Given the description of an element on the screen output the (x, y) to click on. 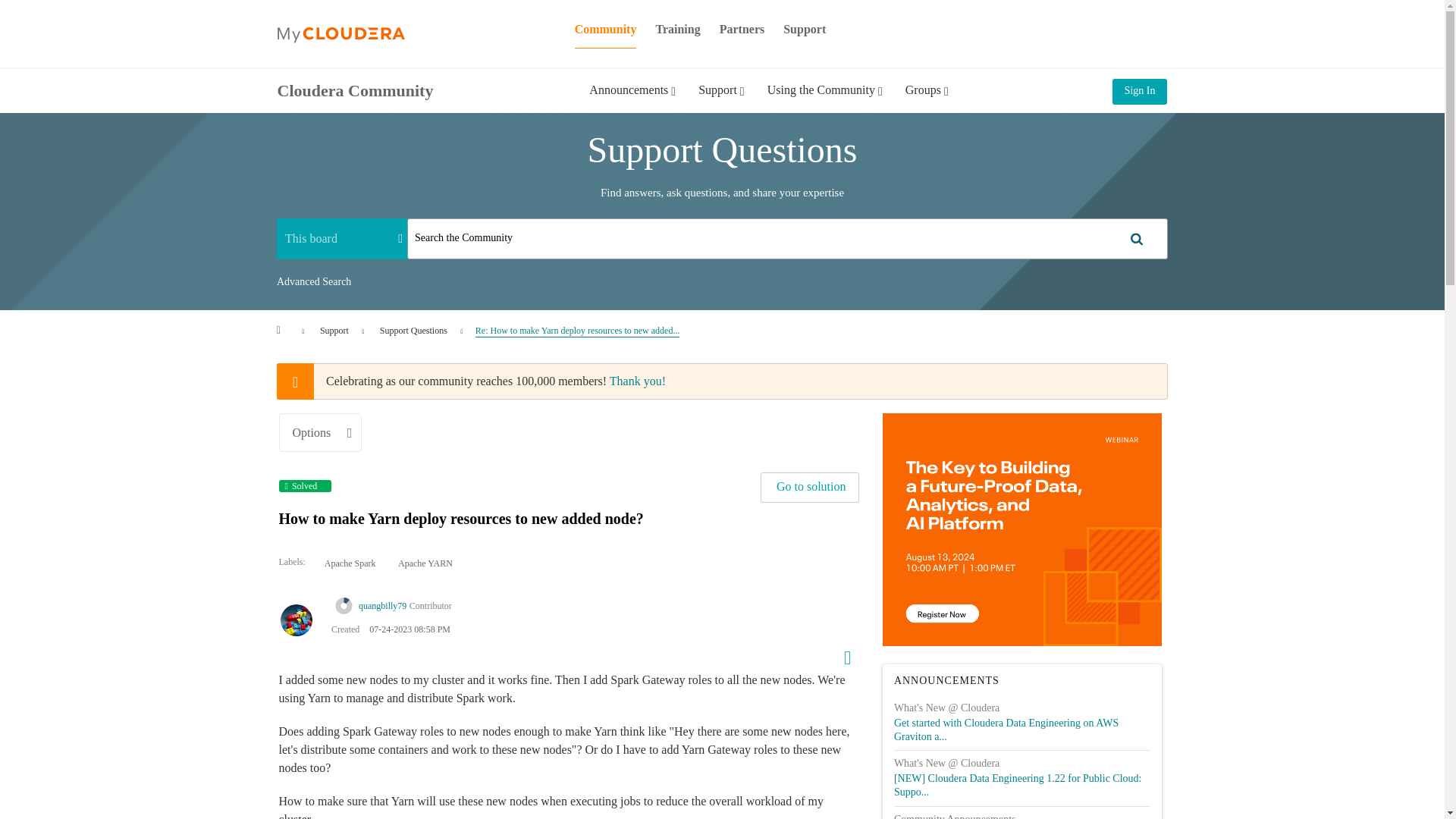
Show option menu (320, 432)
Community (606, 29)
Support (721, 100)
Thank you! (637, 380)
Cloudera Community (355, 90)
Support (804, 29)
Support (333, 330)
Using the Community (824, 100)
Announcements (632, 100)
Sign In (1139, 91)
